Given the description of an element on the screen output the (x, y) to click on. 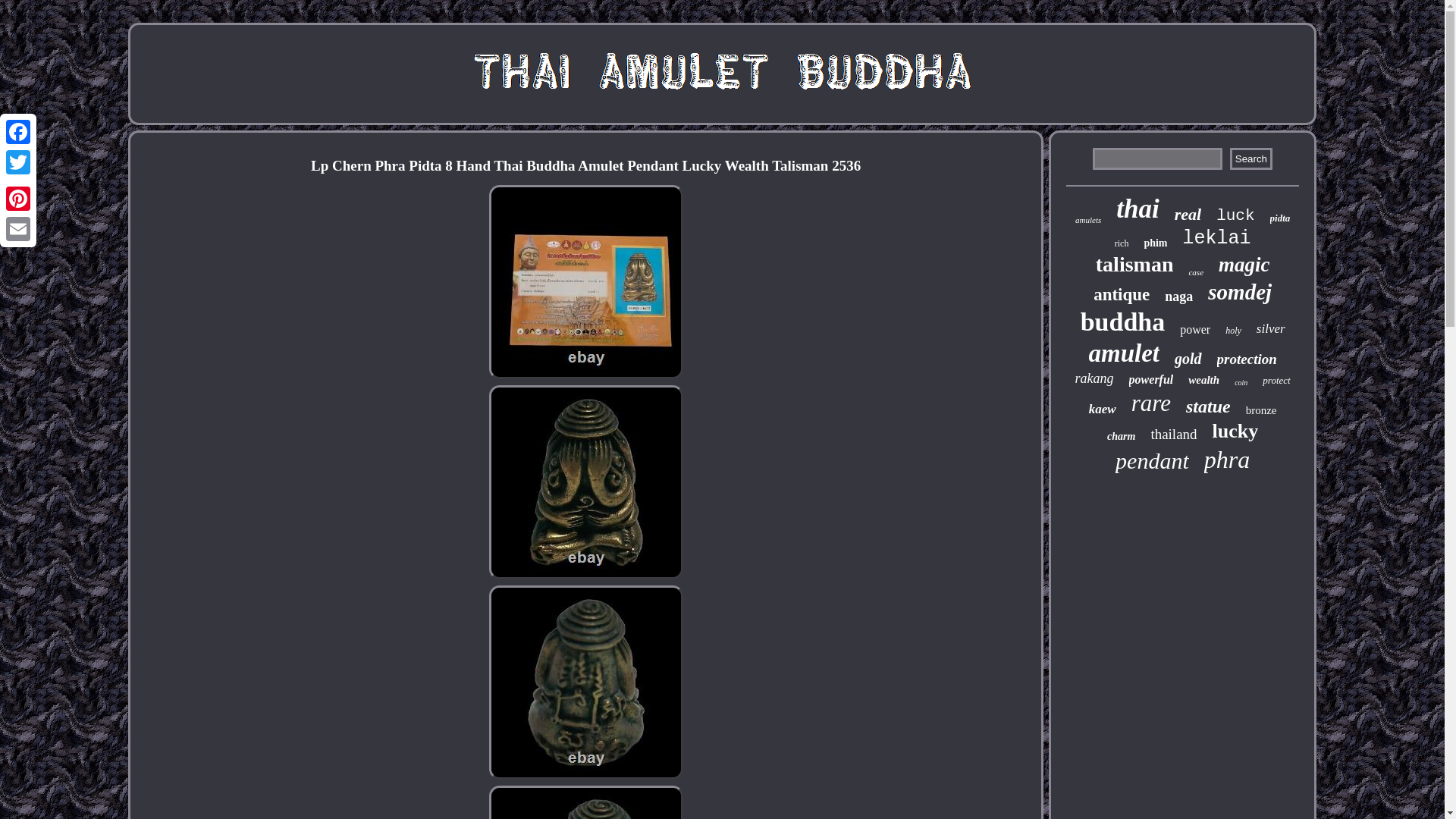
magic (1243, 264)
Email (17, 228)
real (1187, 214)
leklai (1216, 238)
pidta (1279, 218)
buddha (1123, 321)
rich (1122, 243)
Facebook (17, 132)
antique (1121, 294)
Twitter (17, 162)
amulets (1087, 219)
naga (1178, 296)
phim (1154, 243)
